Given the description of an element on the screen output the (x, y) to click on. 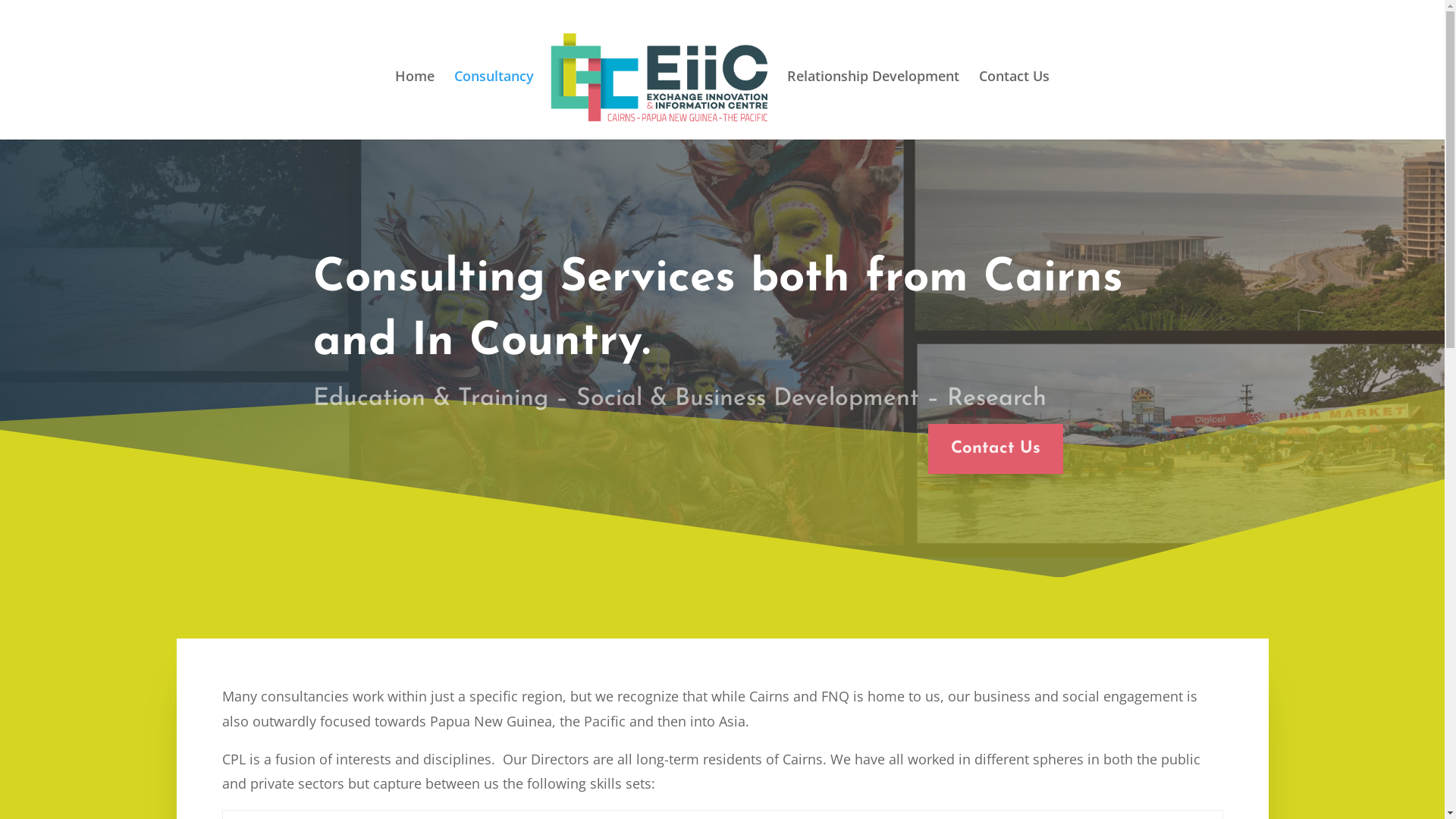
Contact Us Element type: text (1014, 97)
Consultancy Element type: text (493, 97)
Home Element type: text (414, 97)
Relationship Development Element type: text (873, 97)
Contact Us Element type: text (995, 448)
